Given the description of an element on the screen output the (x, y) to click on. 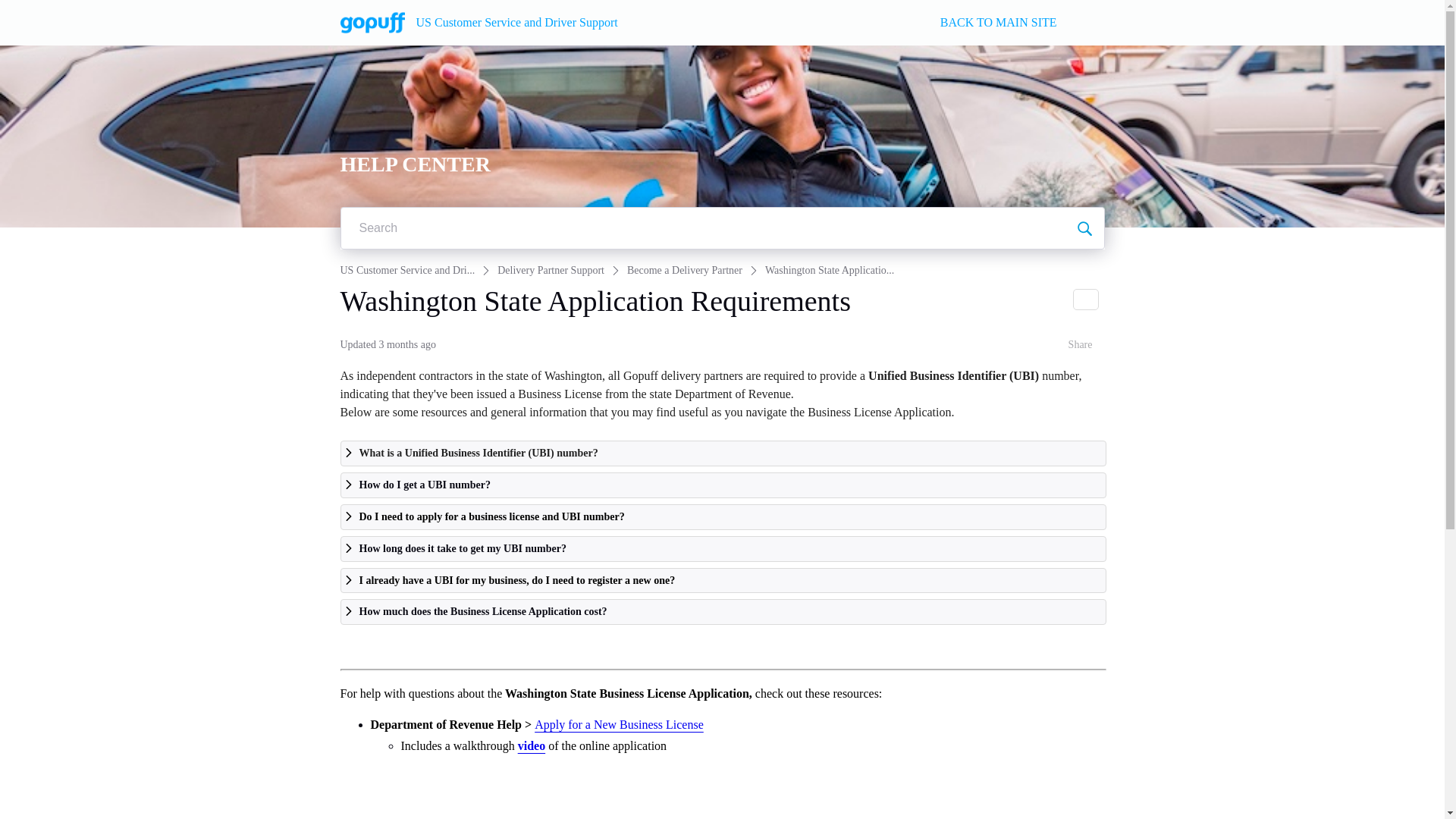
Share (1070, 344)
Become a Delivery Partner (684, 270)
 Apply for a New Business License (617, 724)
US Customer Service and Driver Support (371, 22)
US Customer Service and Driver Support (516, 21)
Print (1084, 299)
 video (529, 745)
US Customer Service and Dri... (406, 270)
Delivery Partner Support (550, 270)
BACK TO MAIN SITE (998, 22)
